Given the description of an element on the screen output the (x, y) to click on. 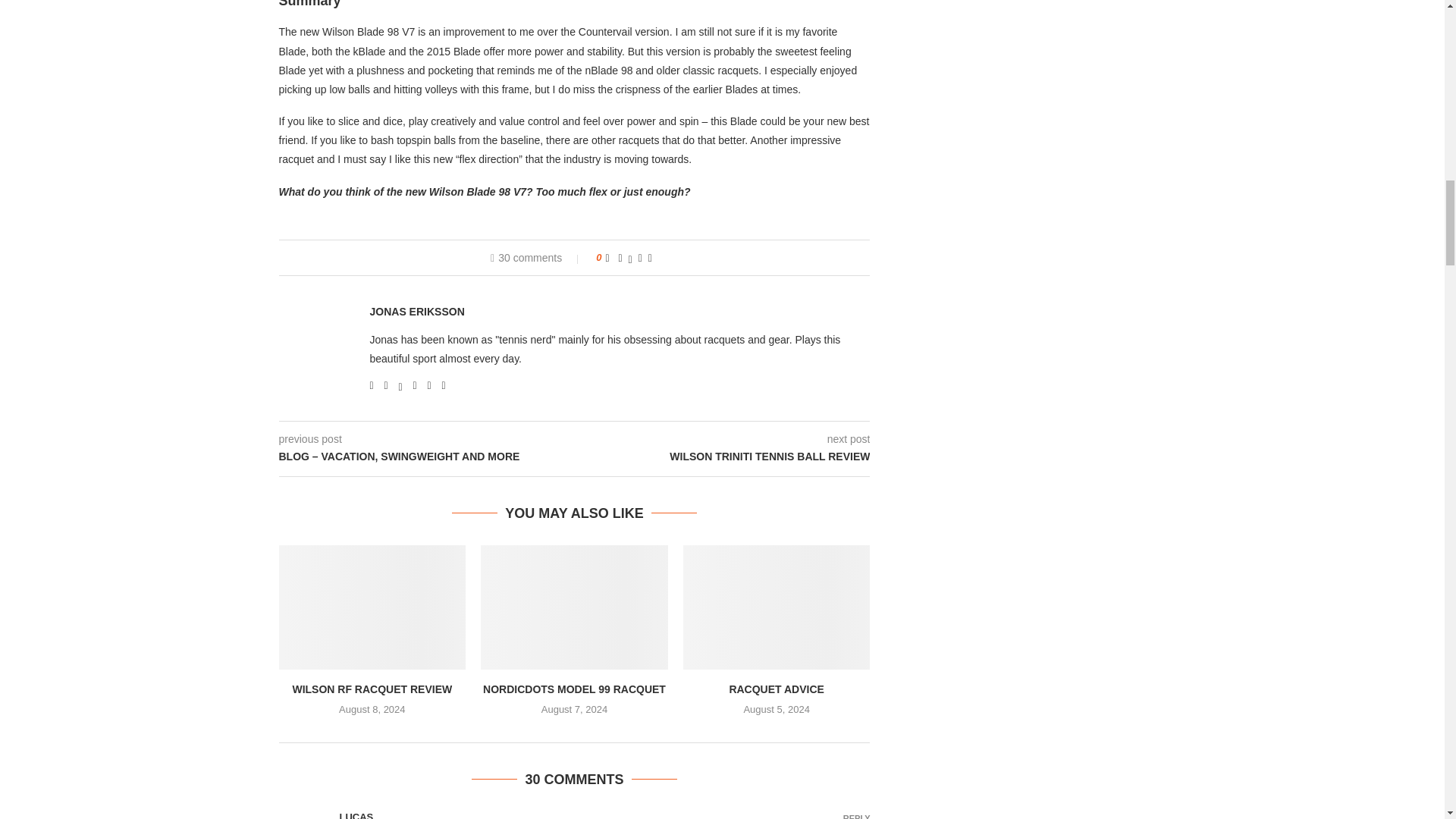
Racquet Advice (776, 607)
Wilson RF Racquet Review (372, 607)
Author Jonas Eriksson (416, 311)
Nordicdots Model 99 racquet (574, 607)
